Given the description of an element on the screen output the (x, y) to click on. 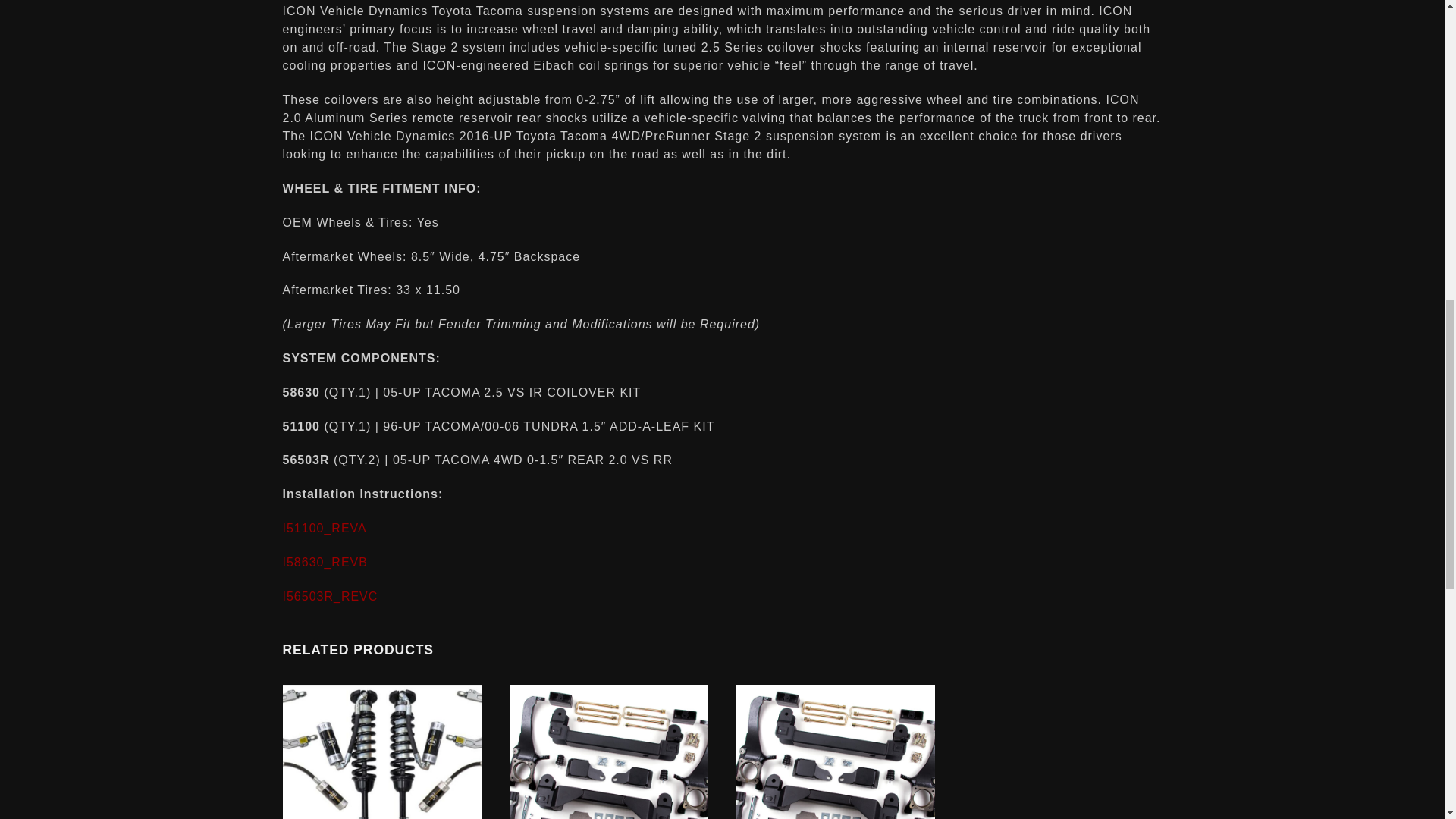
t1 (608, 751)
t1 (835, 751)
